Given the description of an element on the screen output the (x, y) to click on. 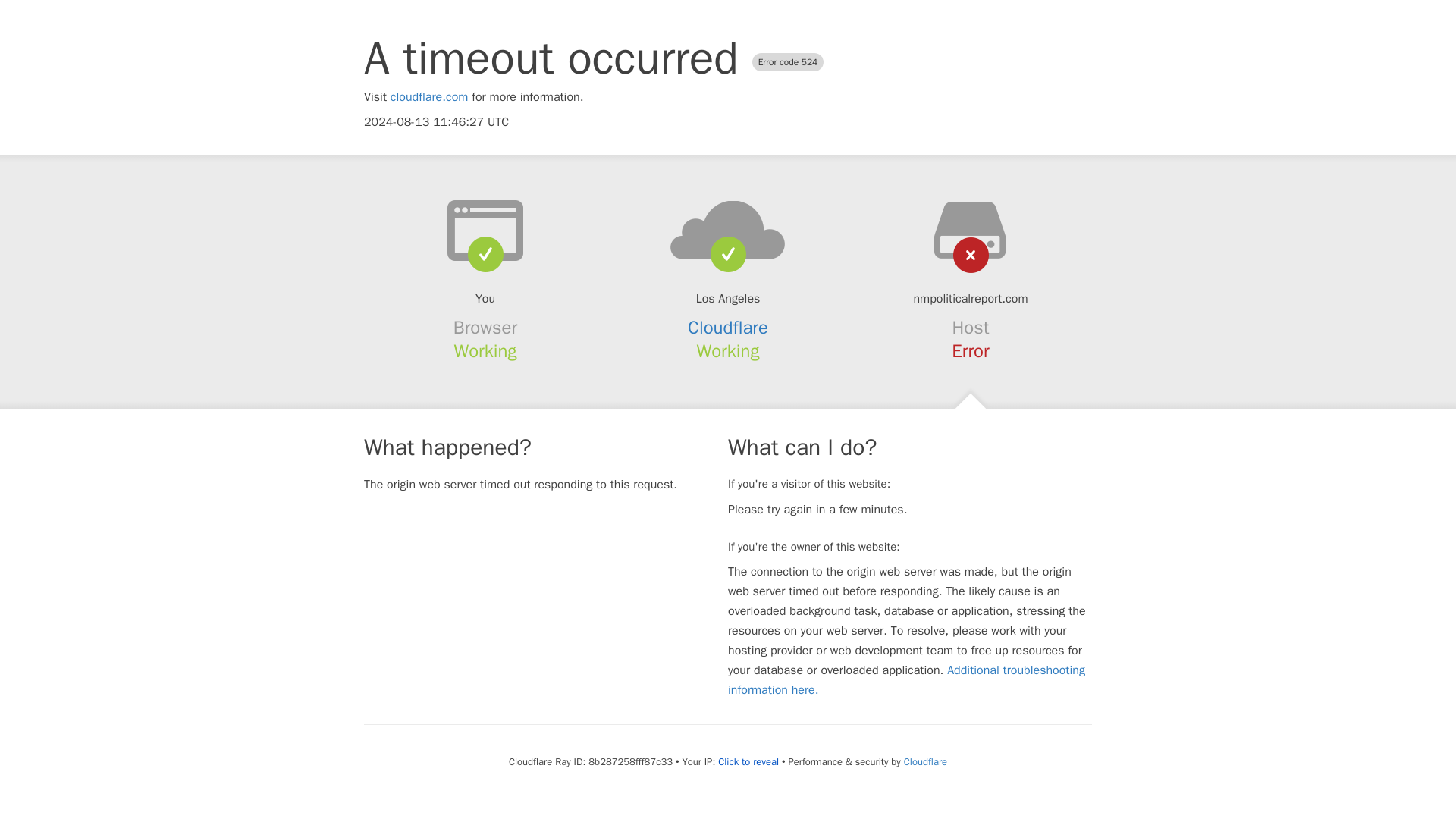
cloudflare.com (429, 96)
Cloudflare (727, 327)
Additional troubleshooting information here. (906, 679)
Cloudflare (925, 761)
Click to reveal (747, 762)
